Given the description of an element on the screen output the (x, y) to click on. 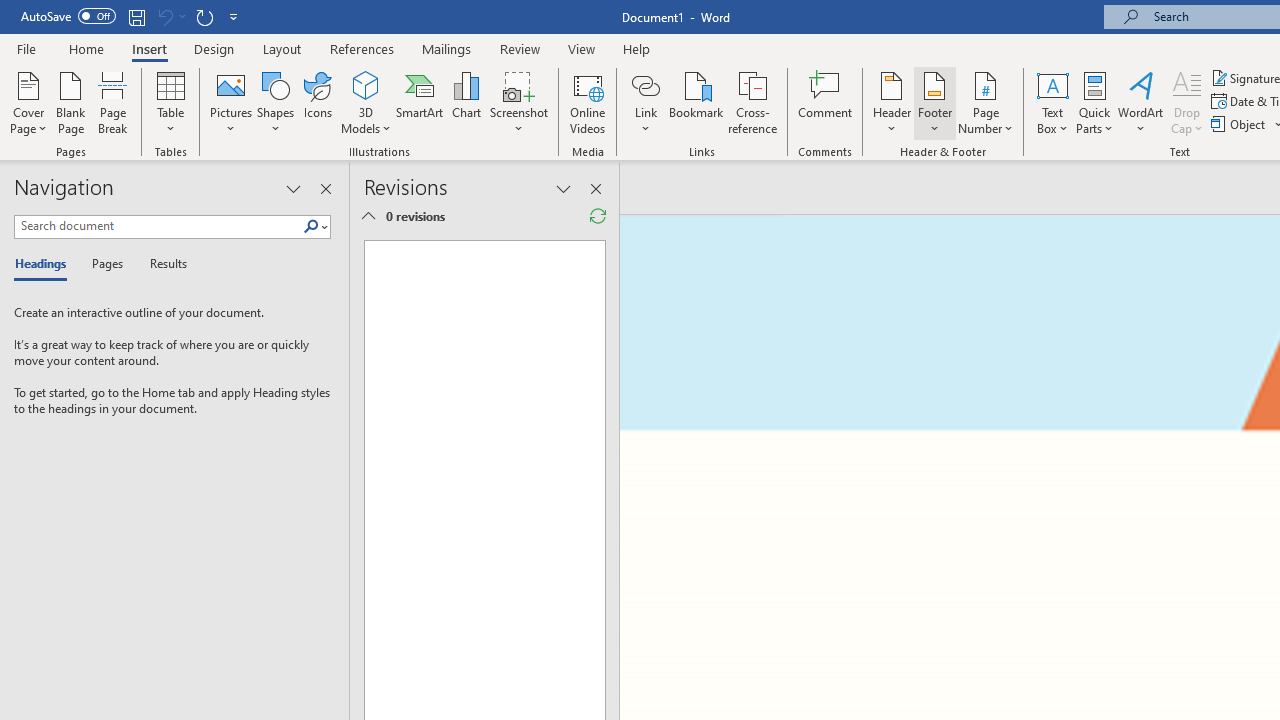
Cross-reference... (752, 102)
Page Break (113, 102)
Object... (1240, 124)
Cover Page (28, 102)
Can't Undo (170, 15)
Shapes (275, 102)
Text Box (1052, 102)
Refresh Reviewing Pane (597, 215)
